Given the description of an element on the screen output the (x, y) to click on. 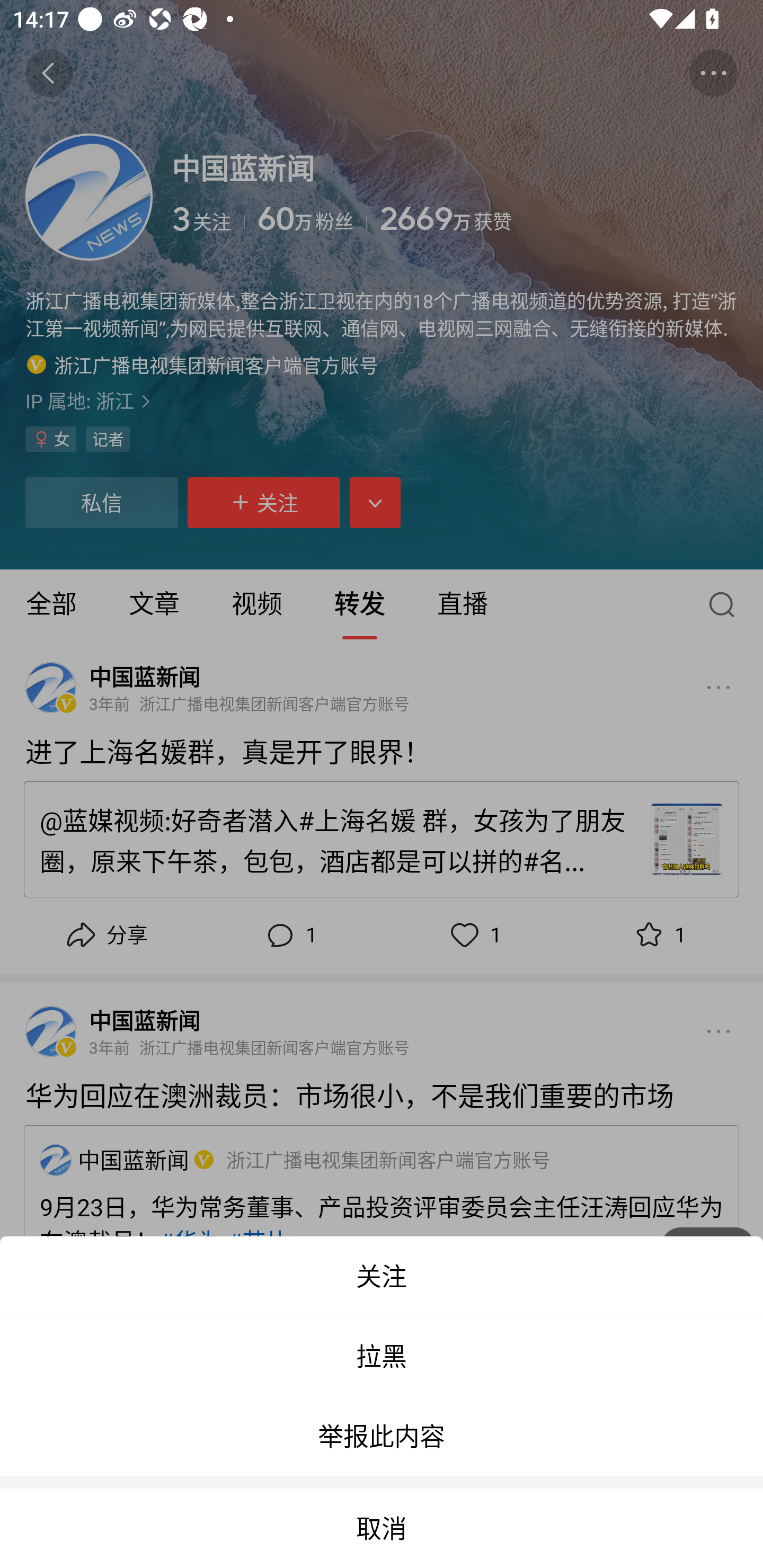
关注 (381, 1276)
拉黑 (381, 1356)
举报此内容 (381, 1436)
取消 (381, 1528)
